Given the description of an element on the screen output the (x, y) to click on. 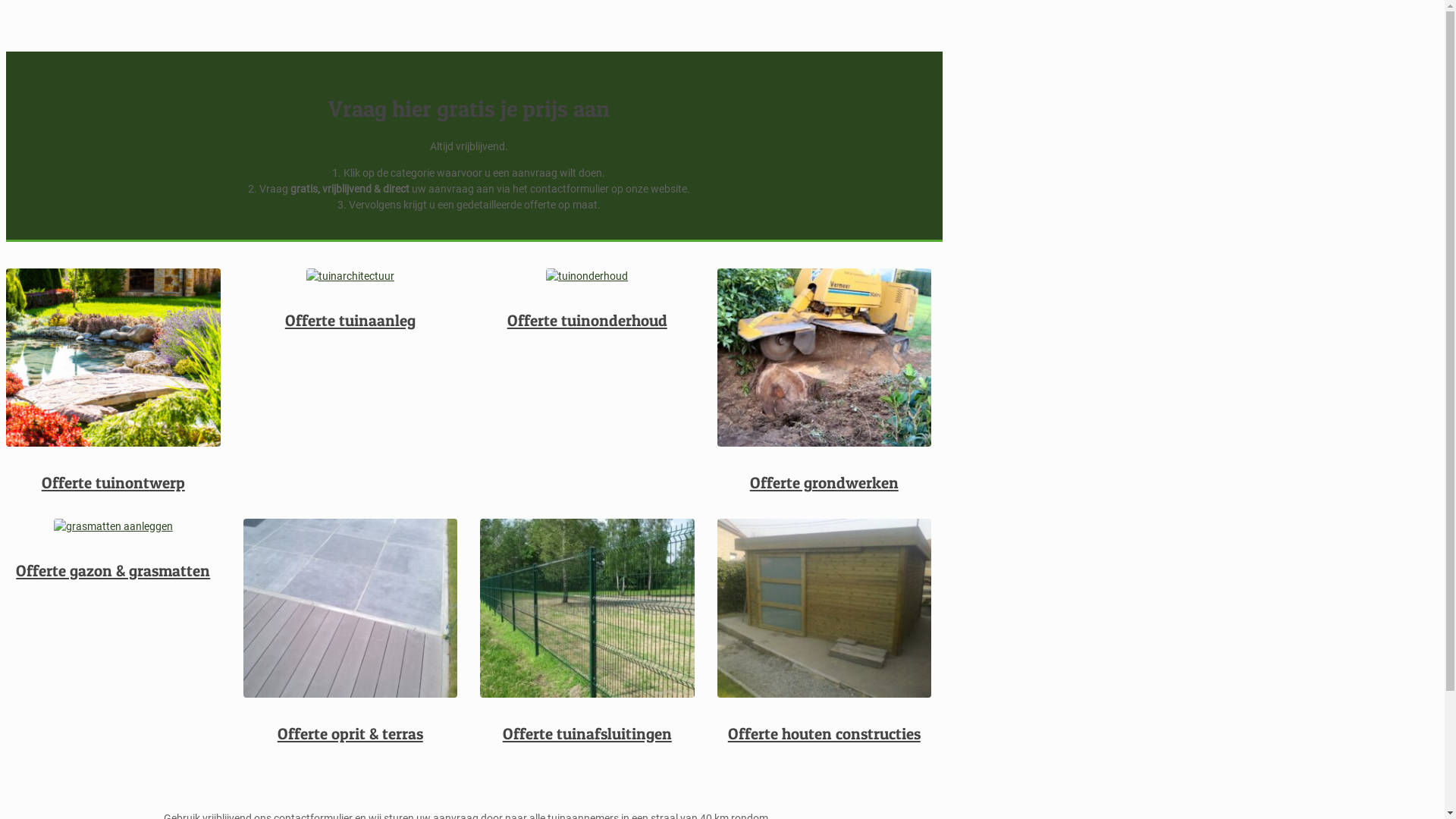
Offerte tuinaanleg Element type: text (350, 319)
terras aanleggen Element type: hover (349, 607)
Offerte tuinonderhoud Element type: text (587, 319)
uitfrezen Element type: hover (824, 357)
tuinaanleg Element type: hover (113, 357)
grasmatten aanleggen Element type: hover (112, 526)
Offerte tuinafsluitingen Element type: text (586, 733)
tuinonderhoud Element type: hover (586, 276)
tuinafsluiting Element type: hover (587, 607)
Offerte houten constructies Element type: text (824, 733)
Modern tuinhuis op maat Element type: hover (824, 607)
Offerte tuinontwerp Element type: text (113, 482)
Offerte oprit & terras Element type: text (350, 733)
Offerte gazon & grasmatten Element type: text (112, 570)
tuinarchitectuur Element type: hover (350, 276)
Offerte grondwerken Element type: text (823, 482)
